Given the description of an element on the screen output the (x, y) to click on. 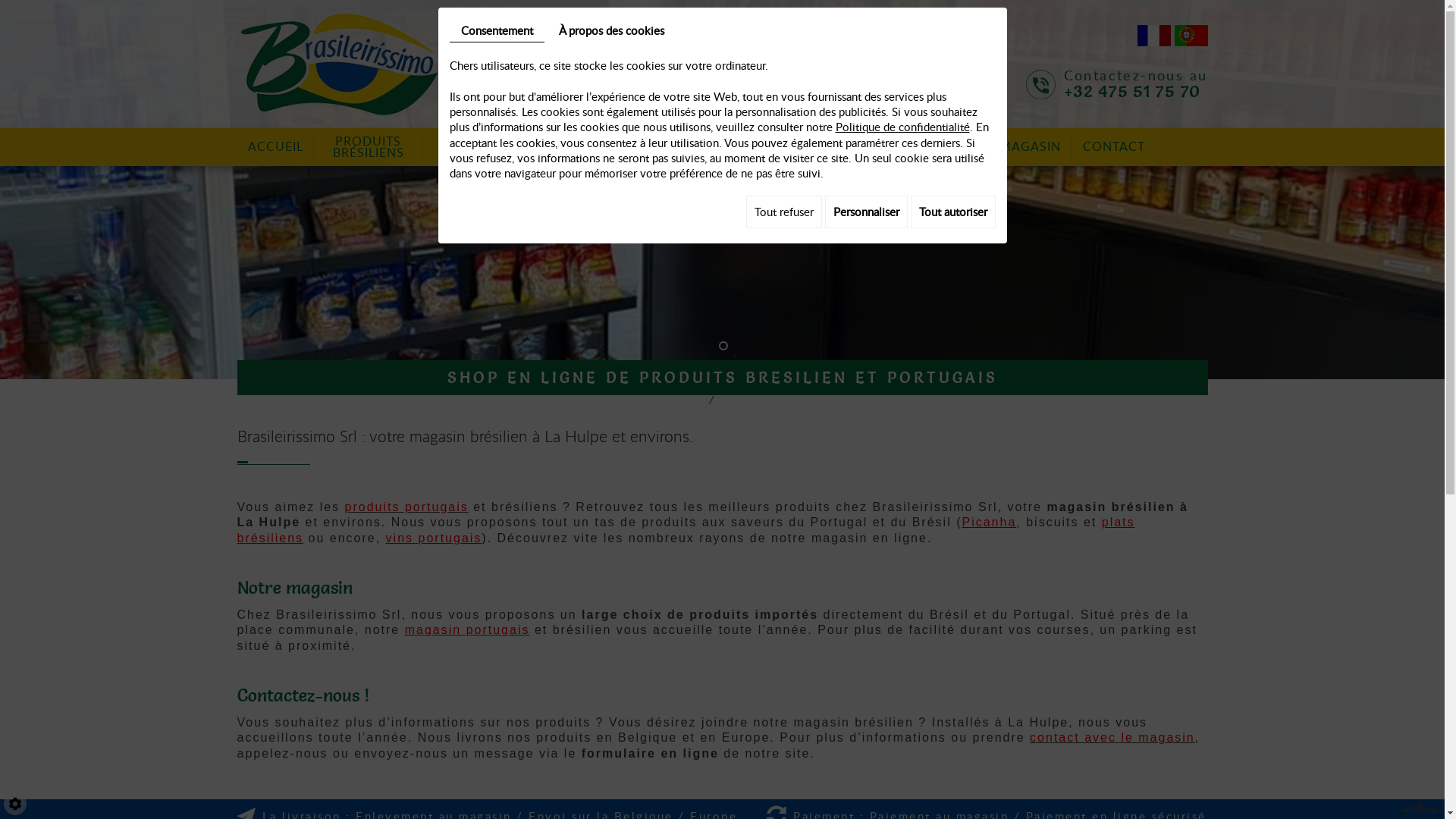
PRODUITS PORTUGAIS Element type: text (476, 147)
VIANDES Element type: text (571, 147)
BOISSONS Element type: text (923, 147)
LE MAGASIN Element type: text (1020, 147)
ACCUEIL Element type: text (274, 147)
Contactez-nous au
+32 475 51 75 70 Element type: text (1135, 82)
Personnaliser Element type: text (866, 211)
Consentement Element type: text (495, 30)
Tout refuser Element type: text (784, 211)
Tout autoriser Element type: text (952, 211)
CONTACT Element type: text (1113, 147)
